Given the description of an element on the screen output the (x, y) to click on. 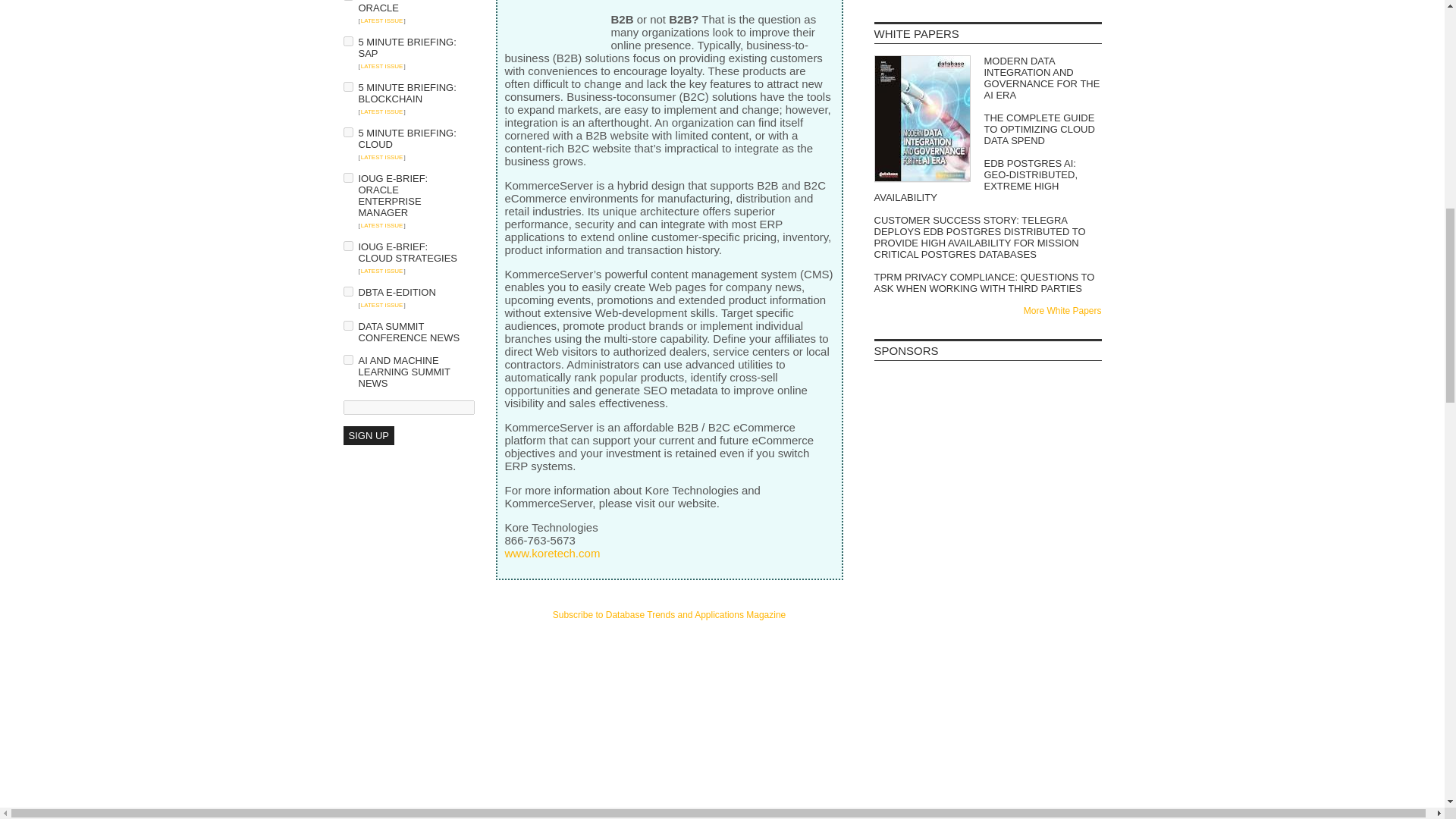
The Complete Guide to Optimizing Cloud Data Spend (986, 129)
on (347, 359)
on (347, 177)
on (347, 86)
on (347, 291)
on (347, 245)
on (347, 325)
Sign Up (367, 435)
